Given the description of an element on the screen output the (x, y) to click on. 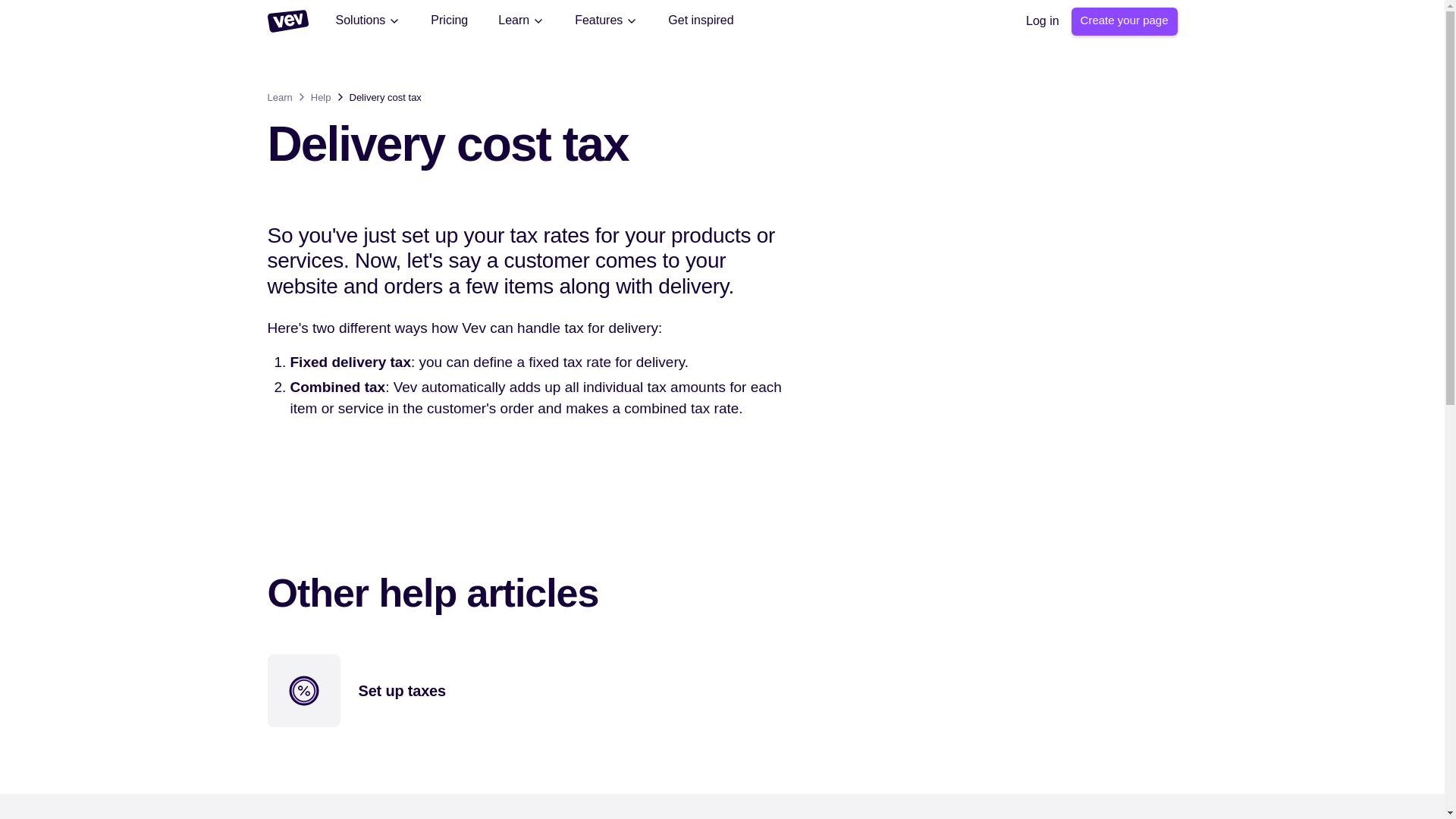
Learn (521, 20)
Solutions (367, 20)
Get inspired (700, 20)
Back to the home page. (286, 20)
Pricing (449, 20)
Features (606, 20)
